Given the description of an element on the screen output the (x, y) to click on. 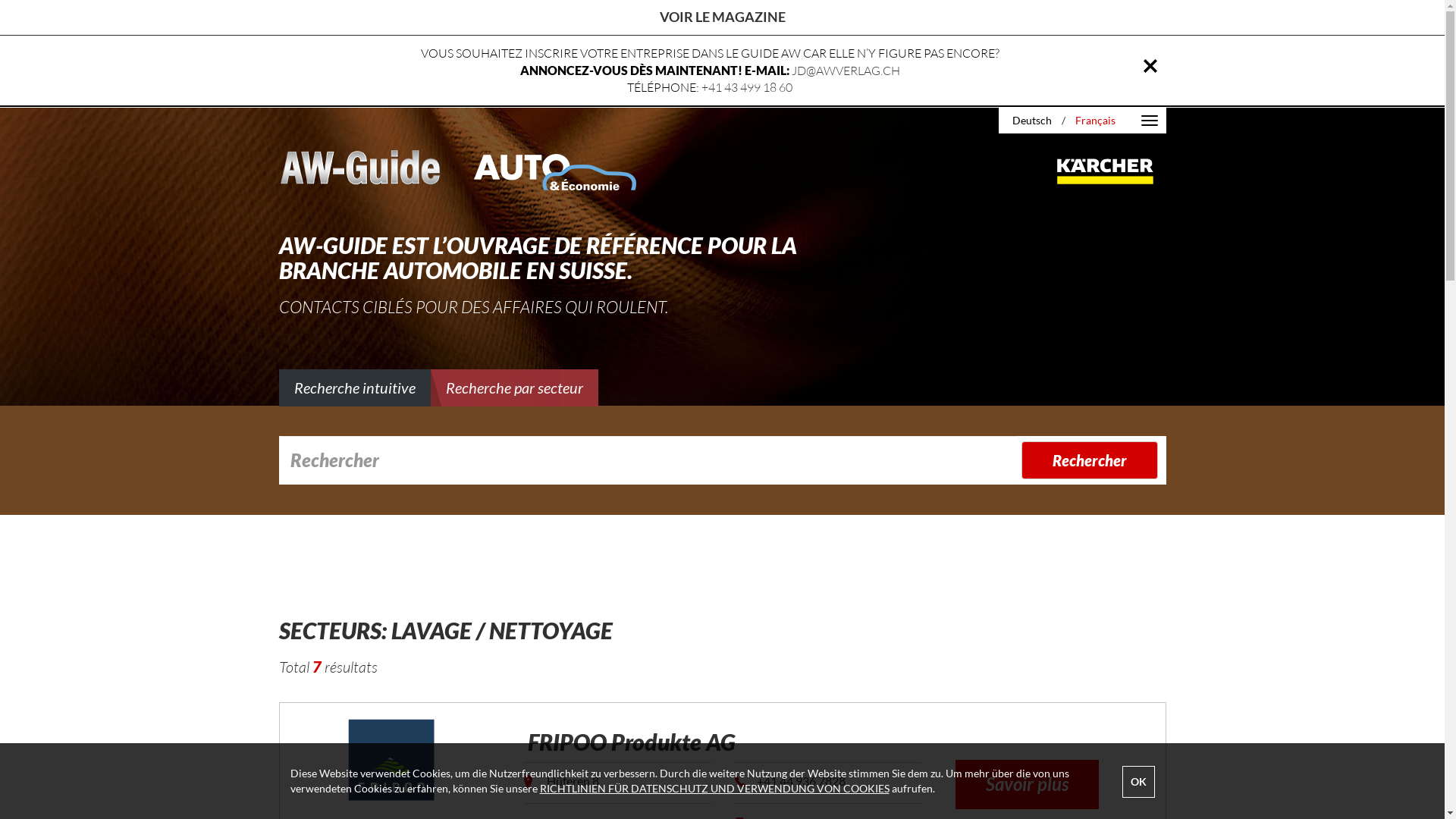
JD@AWVERLAG.CH Element type: text (845, 70)
OK Element type: text (1138, 781)
Savoir plus Element type: text (1026, 786)
Deutsch Element type: text (1031, 119)
Savoir plus Element type: text (1026, 783)
Recherche par secteur Element type: text (514, 387)
VOIR LE MAGAZINE Element type: text (722, 16)
+41 43 499 18 60 Element type: text (746, 87)
Recherche intuitive Element type: text (354, 387)
Rechercher Element type: text (1089, 460)
